Given the description of an element on the screen output the (x, y) to click on. 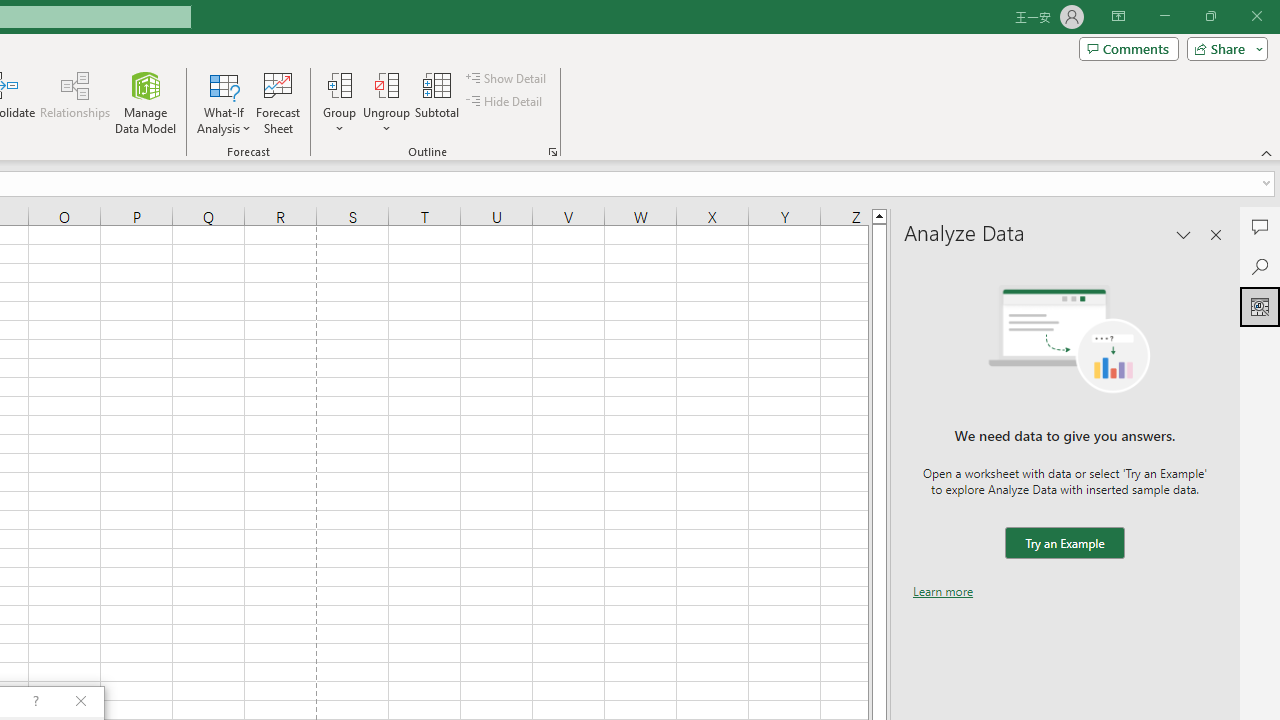
Learn more (943, 591)
What-If Analysis (223, 102)
Show Detail (507, 78)
Ungroup... (386, 84)
Subtotal (437, 102)
Ungroup... (386, 102)
Manage Data Model (145, 102)
Comments (1128, 48)
Ribbon Display Options (1118, 16)
More Options (386, 121)
Task Pane Options (1183, 234)
Group... (339, 84)
Analyze Data (1260, 306)
